Given the description of an element on the screen output the (x, y) to click on. 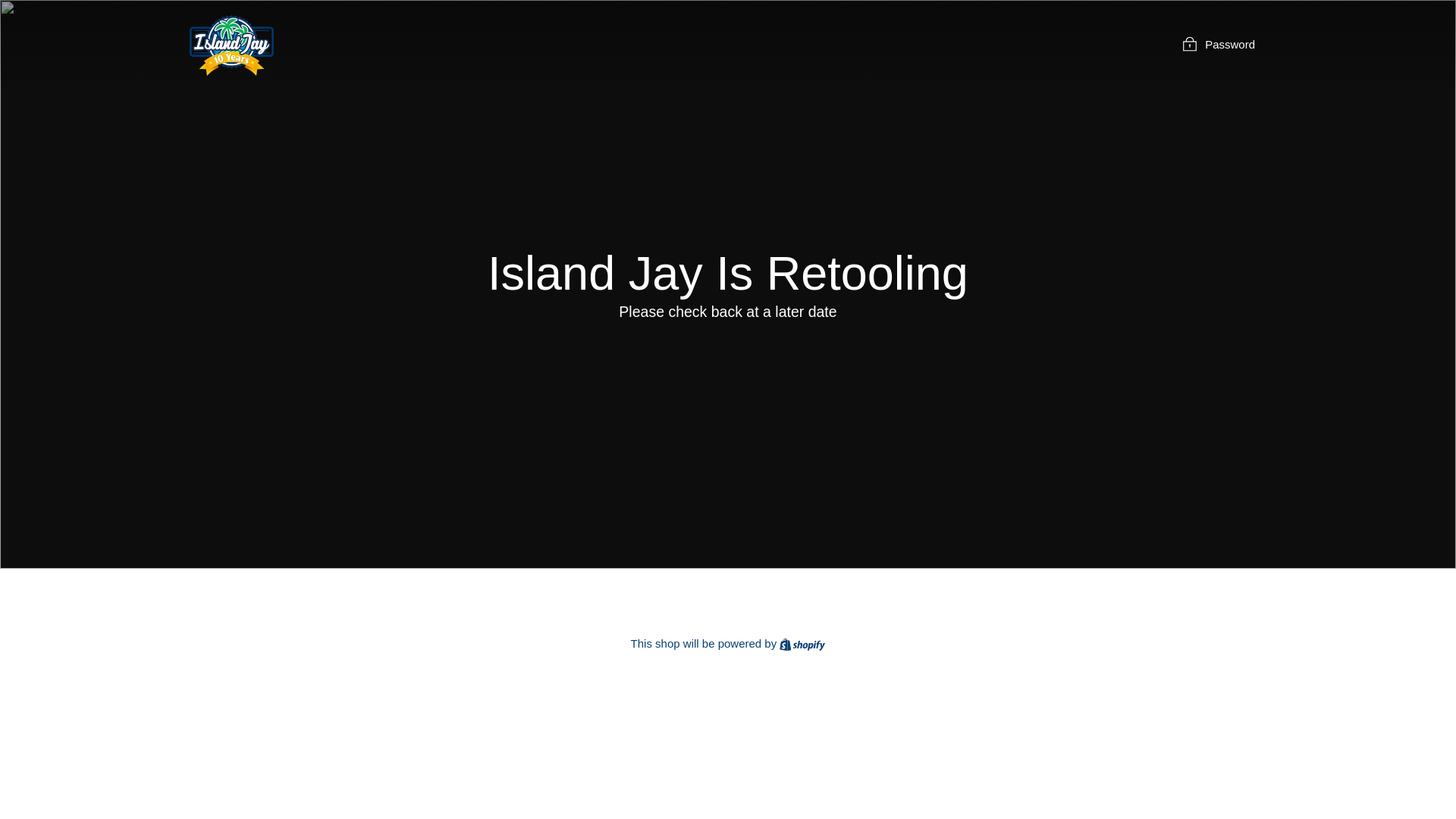
Password (1217, 44)
Create your own online store with Shopify (801, 643)
Shopify logo (801, 644)
